Given the description of an element on the screen output the (x, y) to click on. 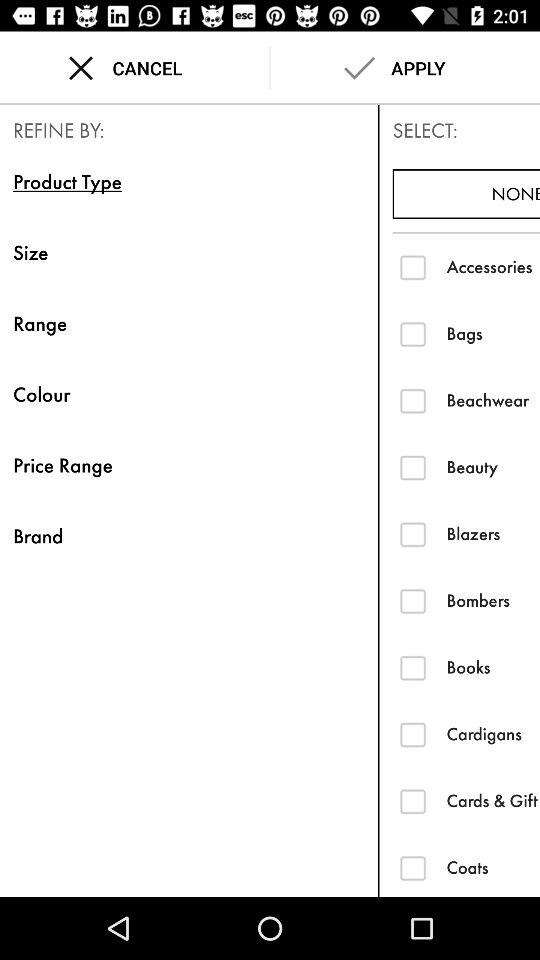
pay with gift card (412, 800)
